Given the description of an element on the screen output the (x, y) to click on. 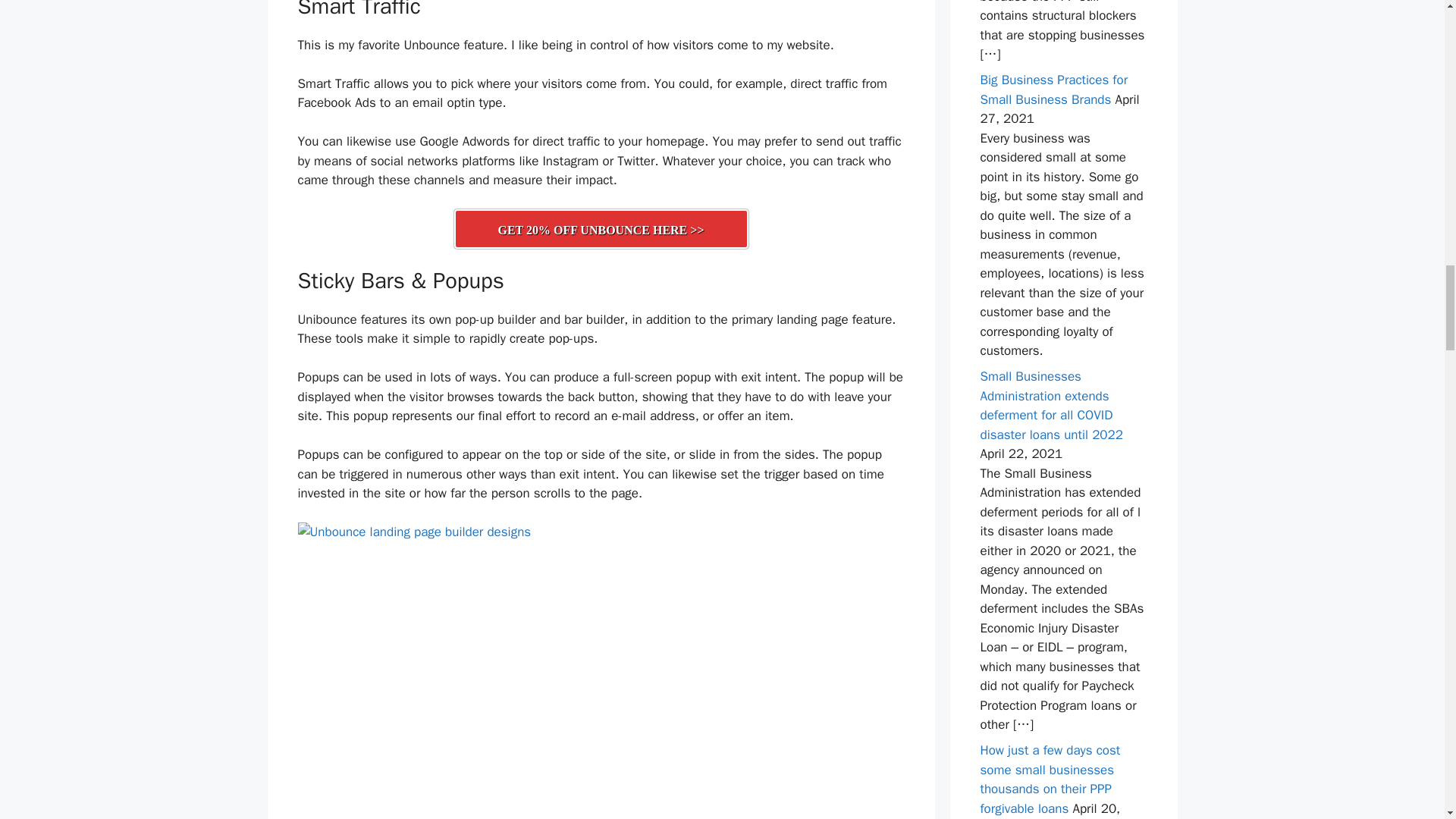
Big Business Practices for Small Business Brands (1052, 89)
